Given the description of an element on the screen output the (x, y) to click on. 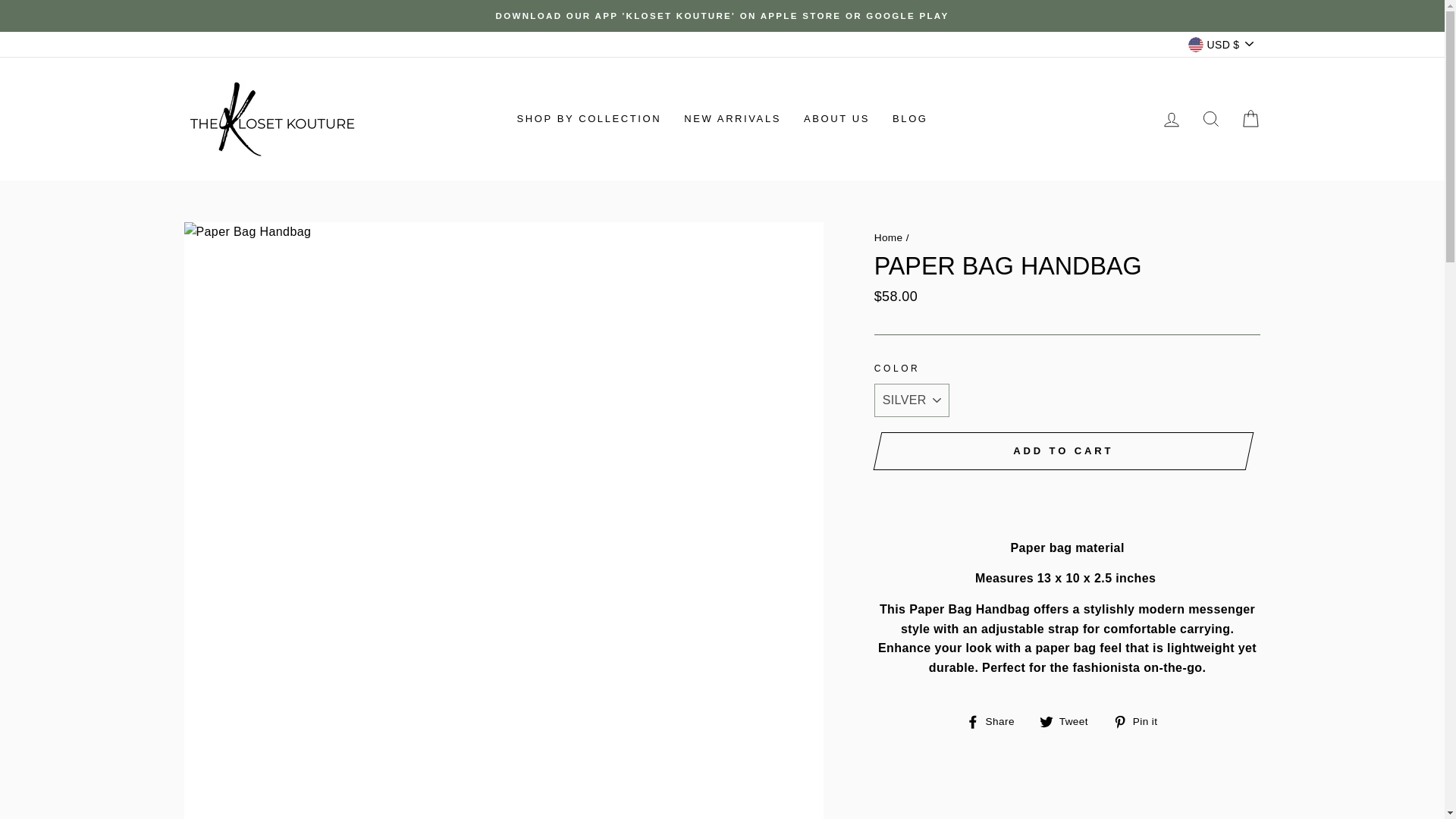
Back to the frontpage (888, 237)
Share on Facebook (996, 721)
Pin on Pinterest (1141, 721)
Tweet on Twitter (1069, 721)
